Given the description of an element on the screen output the (x, y) to click on. 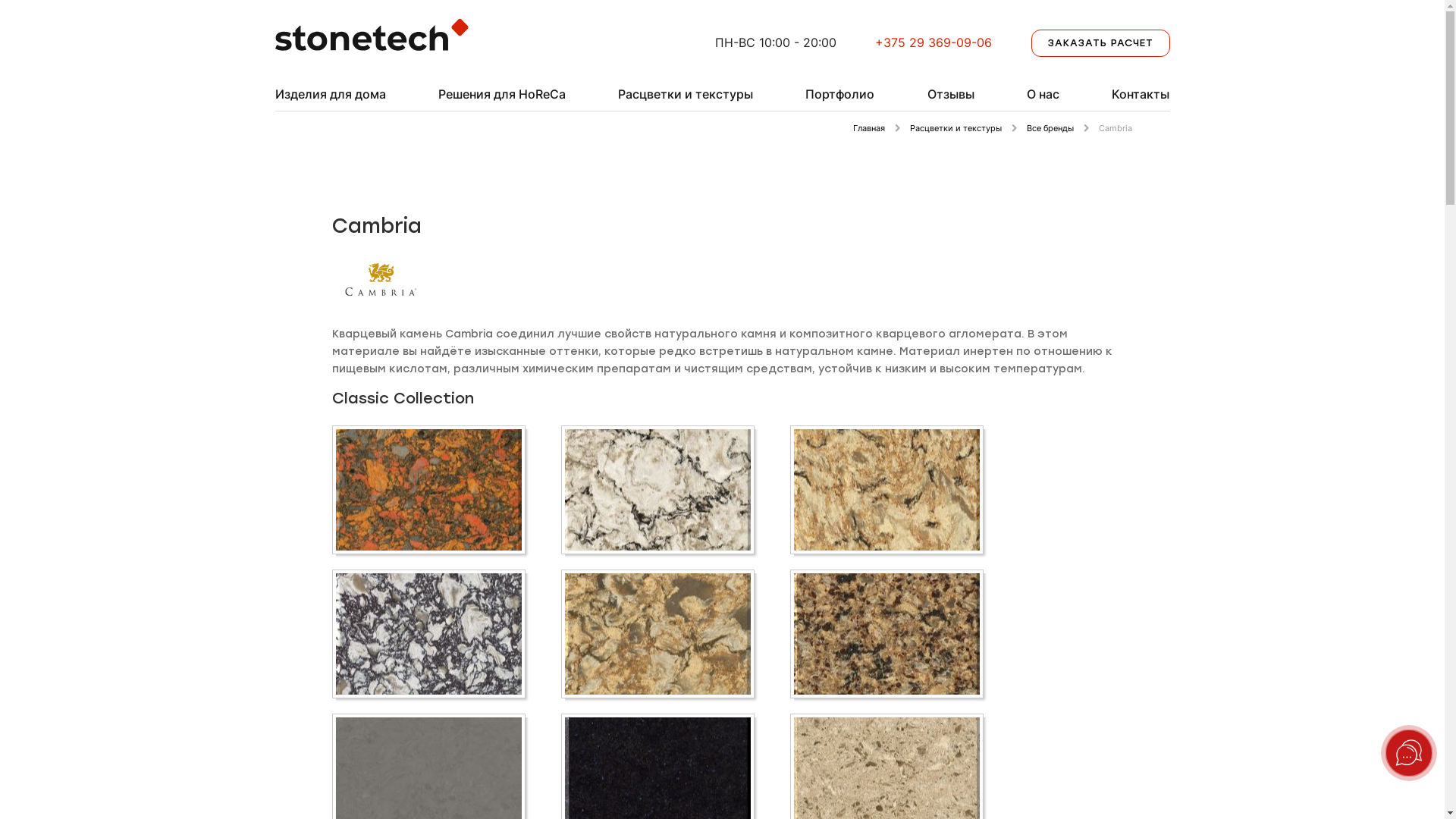
Click to enlarge image bellingham_01.jpg Element type: hover (656, 489)
Click to enlarge image buckingham_01.JPG Element type: hover (656, 633)
Click to enlarge image canterbury_01.jpg Element type: hover (886, 633)
Click to enlarge image aberdeen_01.jpg Element type: hover (427, 489)
+375 29 369-09-06 Element type: text (933, 42)
Click to enlarge image bradshaw_01.jpg Element type: hover (886, 489)
Click to enlarge image braemar_01.jpg Element type: hover (427, 633)
